Given the description of an element on the screen output the (x, y) to click on. 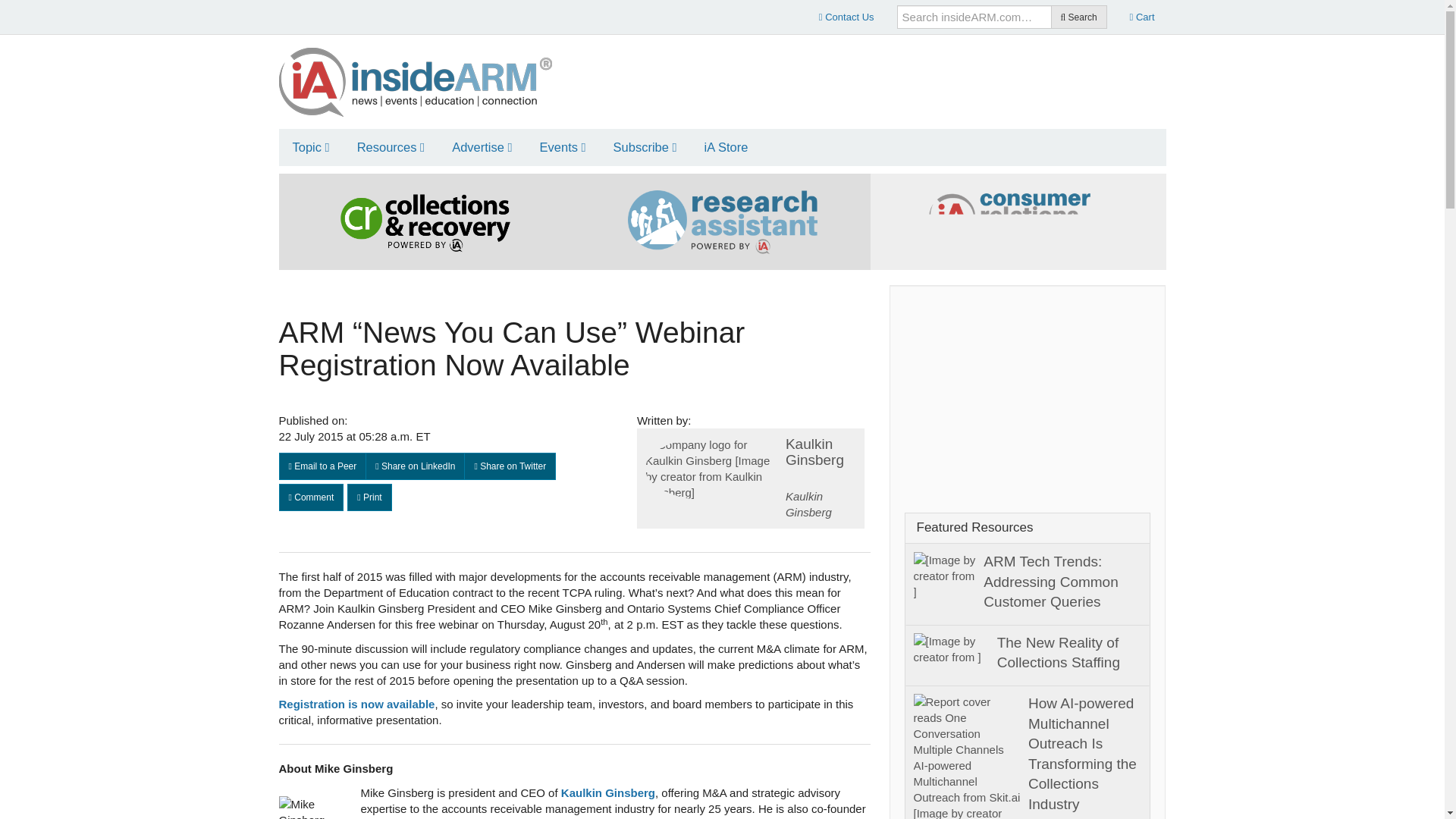
Resources (390, 147)
Contact Us (846, 17)
Search (1078, 16)
Advertise (481, 147)
Cart (1142, 17)
Topic (311, 147)
